Given the description of an element on the screen output the (x, y) to click on. 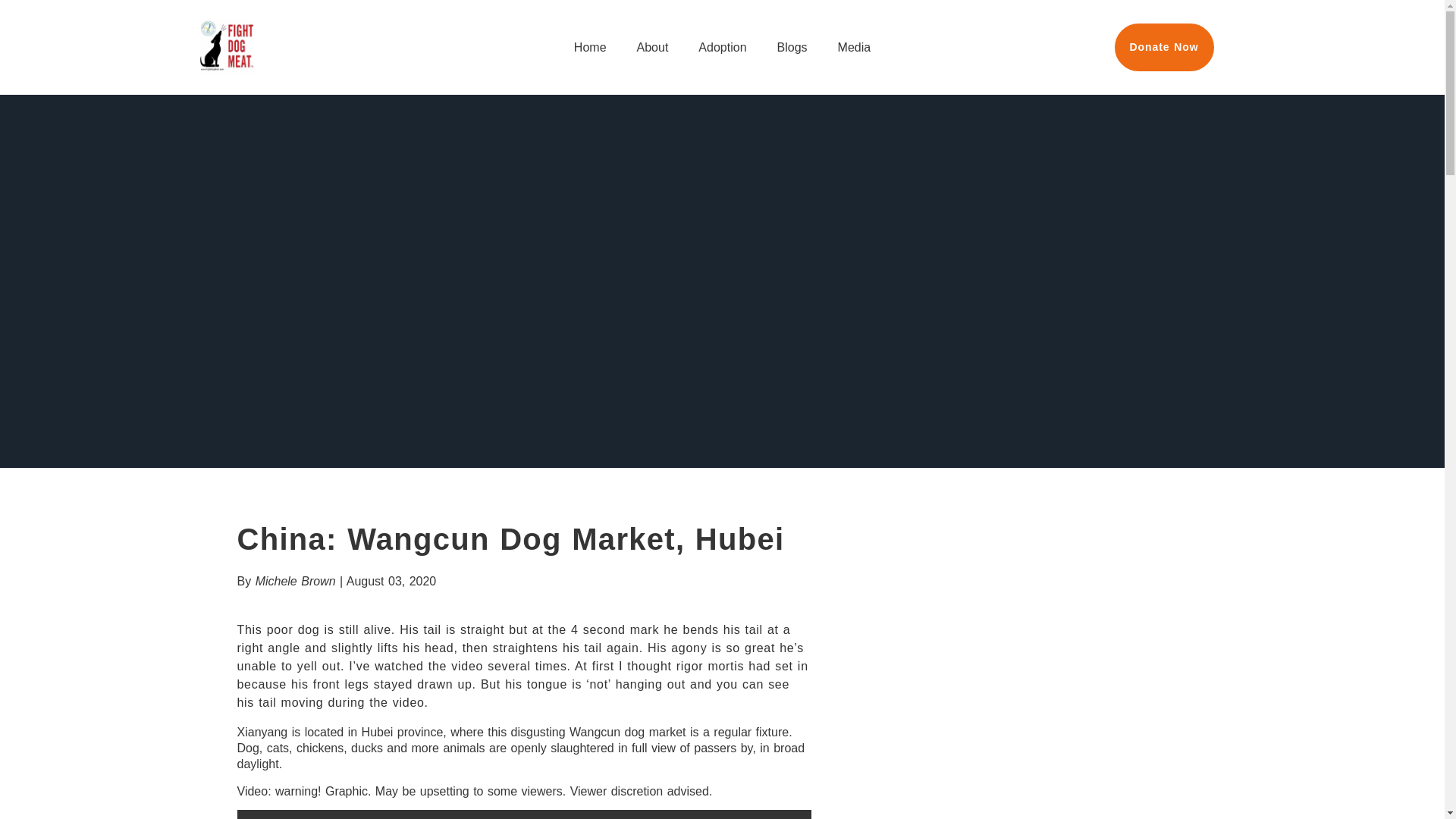
Adoption (721, 47)
Home (590, 47)
Donate Now (1164, 47)
Blogs (792, 47)
About (652, 47)
Media (854, 47)
